Given the description of an element on the screen output the (x, y) to click on. 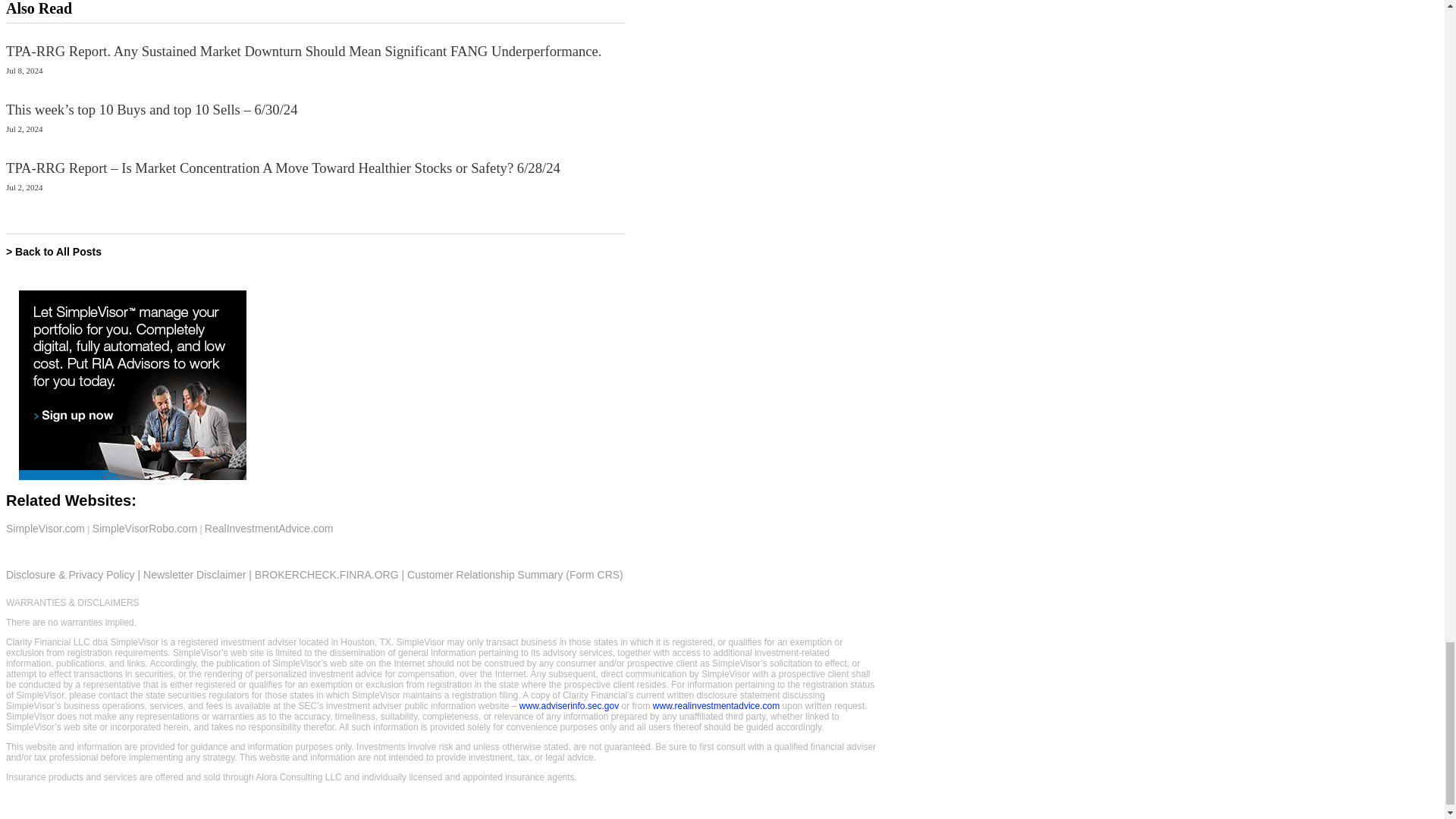
RealInvestmentAdvice.com (269, 528)
SimpleVisor.com (44, 528)
SimpleVisorRobo.com (144, 528)
BROKERCHECK.FINRA.ORG (326, 574)
Newsletter Disclaimer (194, 574)
